Given the description of an element on the screen output the (x, y) to click on. 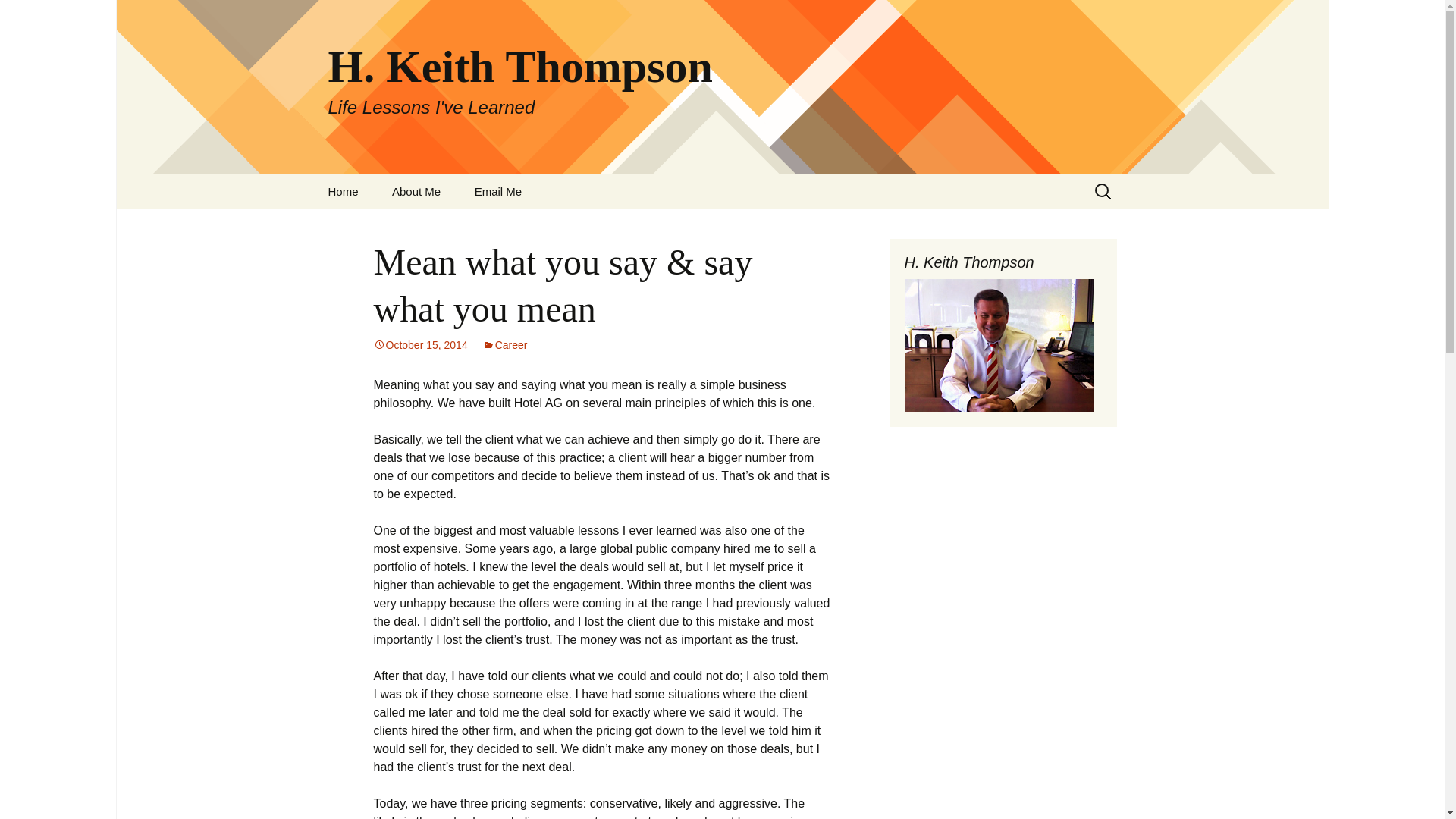
Career (505, 345)
Search (18, 15)
October 15, 2014 (498, 191)
Home (419, 345)
About Me (342, 191)
